Given the description of an element on the screen output the (x, y) to click on. 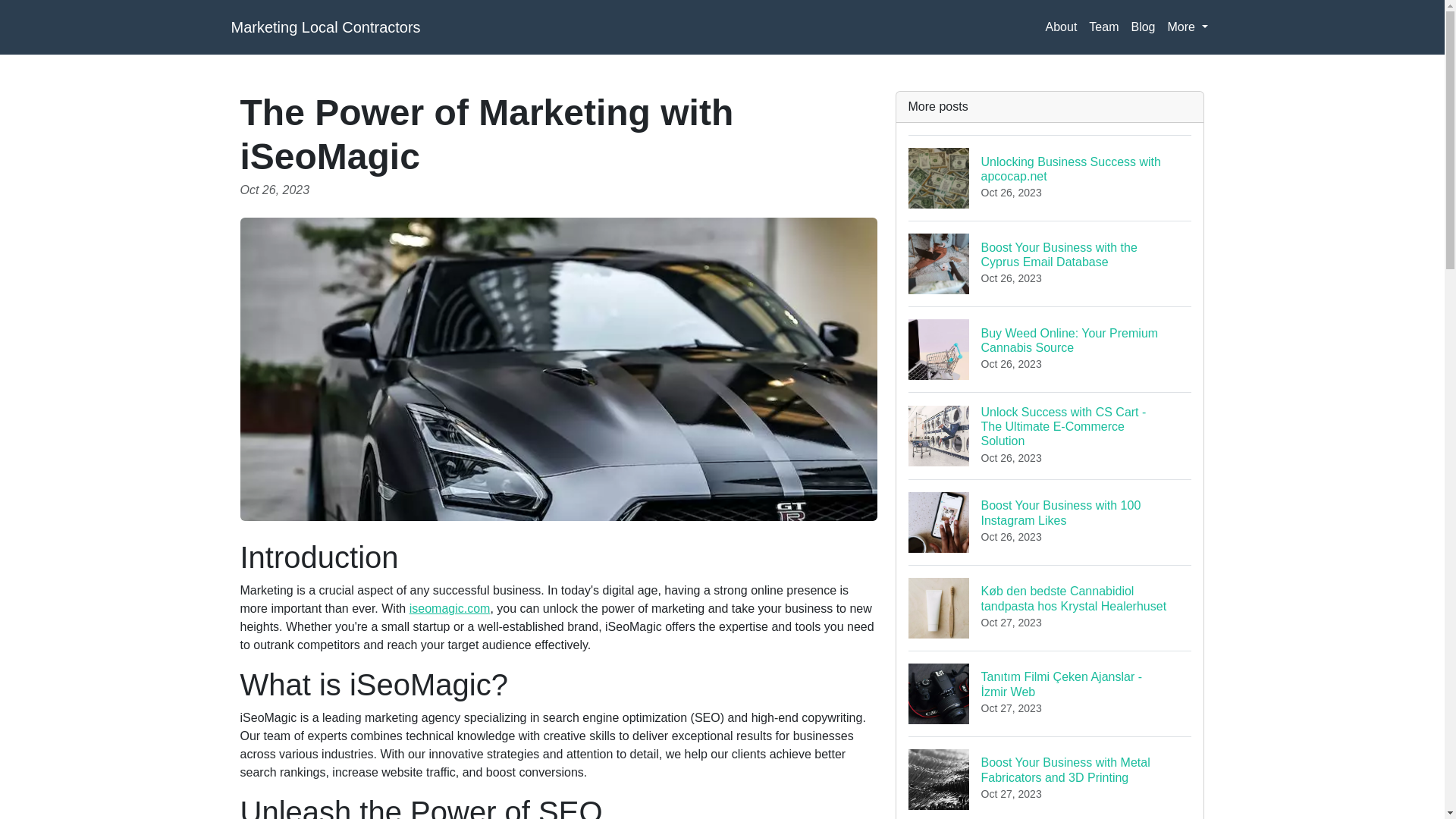
About (1061, 27)
Blog (1050, 177)
Team (1142, 27)
Marketing Local Contractors (1050, 349)
iseomagic.com (1103, 27)
More (325, 27)
